Given the description of an element on the screen output the (x, y) to click on. 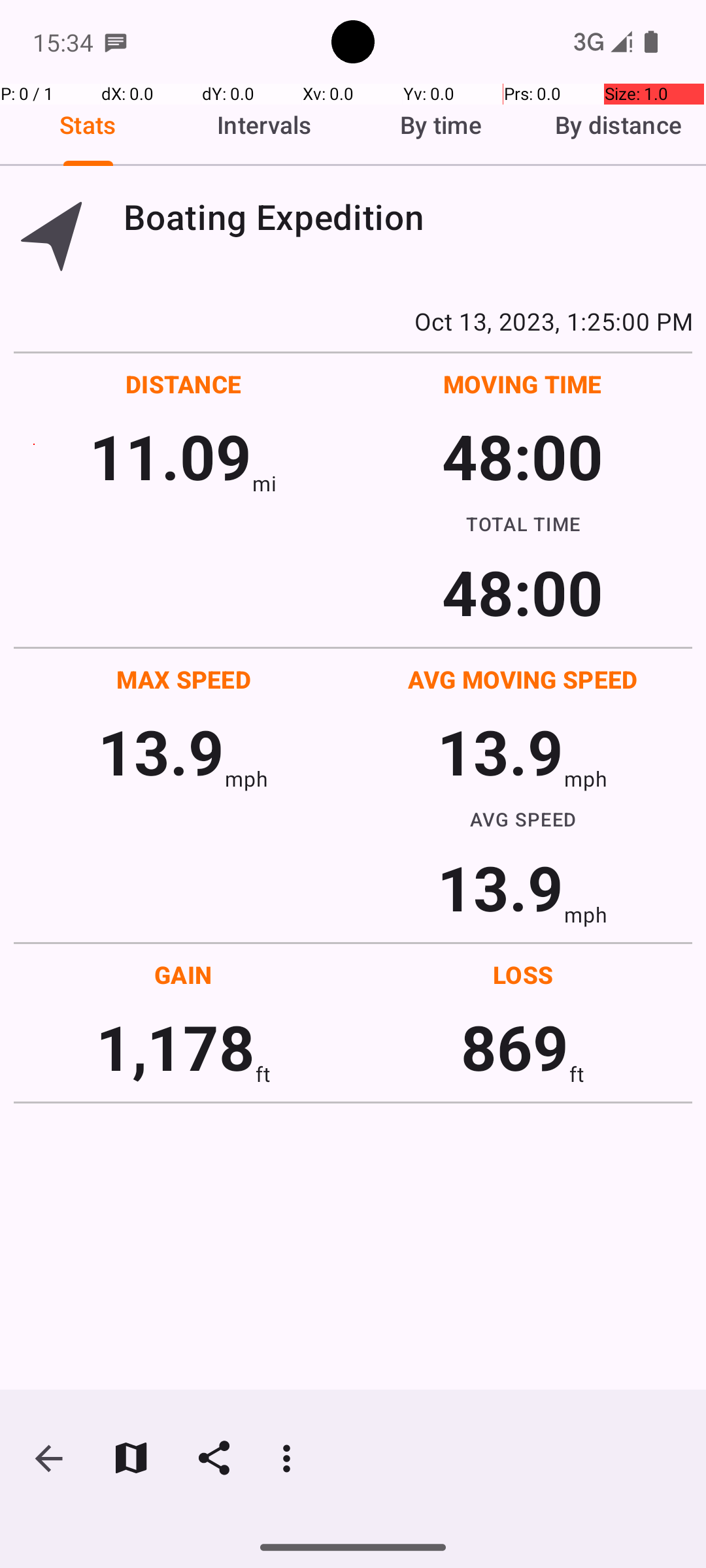
Boating Expedition Element type: android.widget.TextView (407, 216)
Oct 13, 2023, 1:25:00 PM Element type: android.widget.TextView (352, 320)
11.09 Element type: android.widget.TextView (170, 455)
48:00 Element type: android.widget.TextView (522, 455)
13.9 Element type: android.widget.TextView (161, 750)
1,178 Element type: android.widget.TextView (175, 1045)
869 Element type: android.widget.TextView (514, 1045)
